Given the description of an element on the screen output the (x, y) to click on. 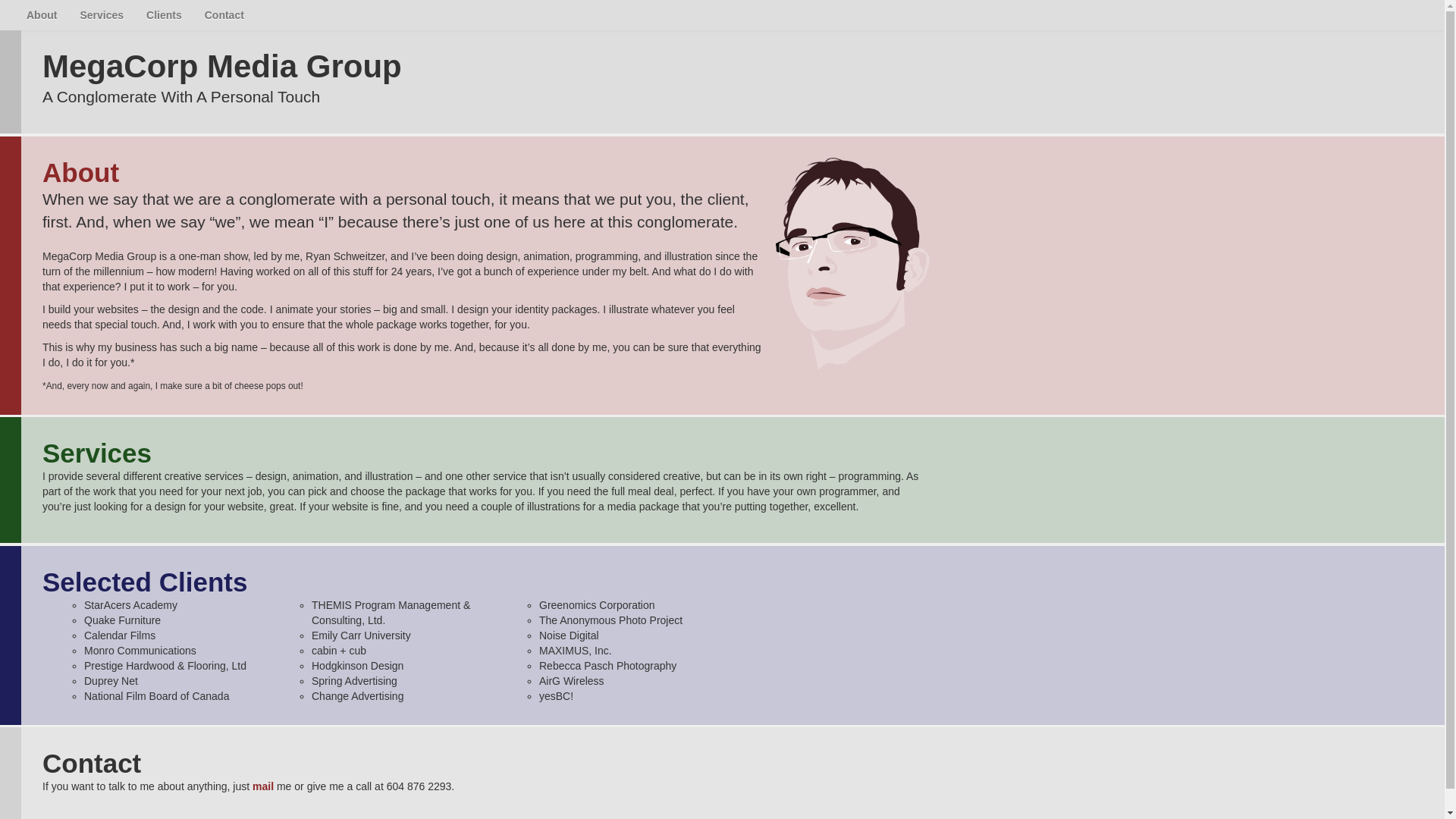
Services (101, 15)
About (41, 15)
Clients (164, 15)
Contact (224, 15)
Contact (224, 15)
Services (101, 15)
Clients (164, 15)
About (41, 15)
mail (262, 786)
